Given the description of an element on the screen output the (x, y) to click on. 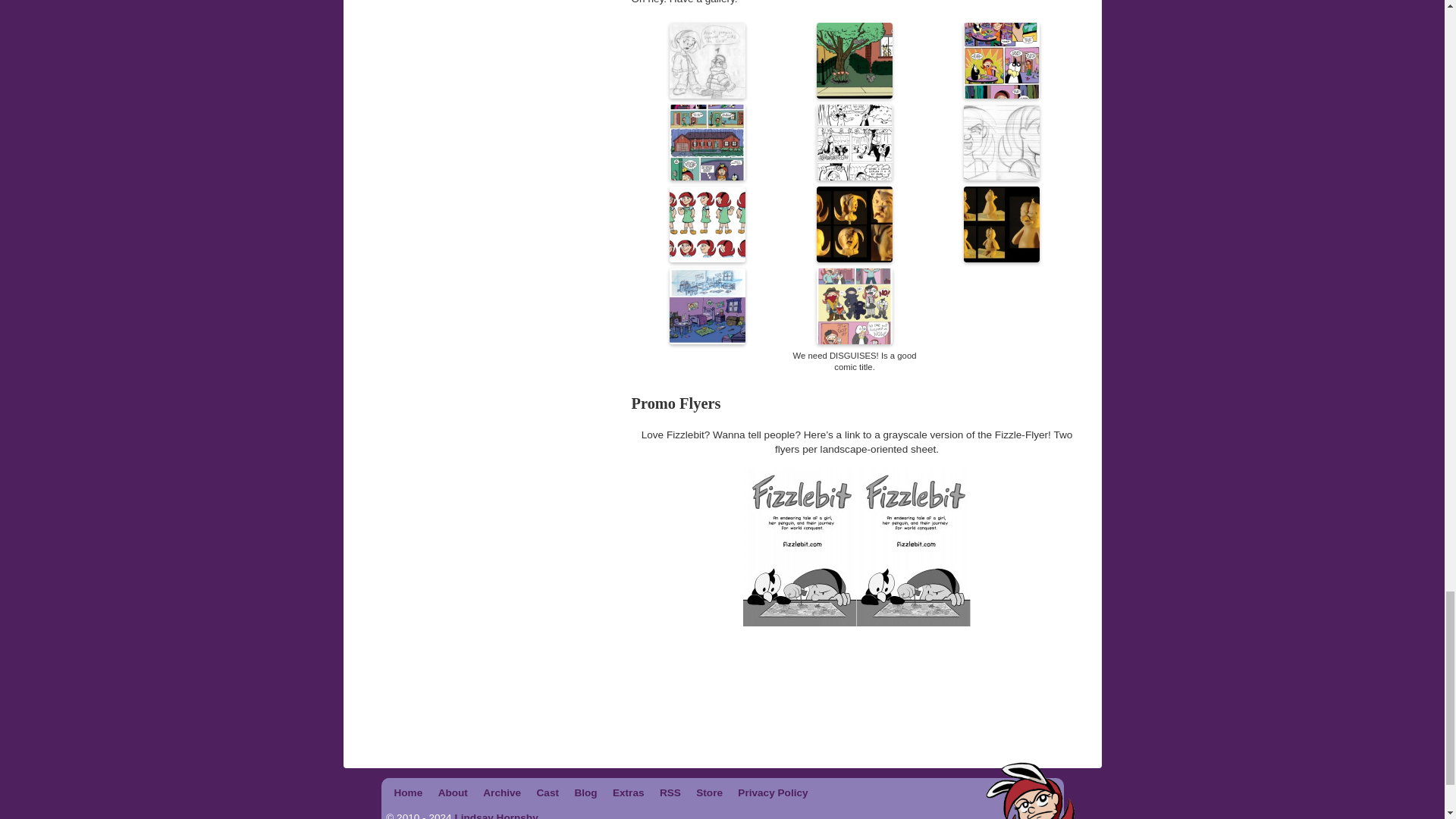
fizzlebitflyerprint (856, 547)
Advertiser (722, 713)
